Given the description of an element on the screen output the (x, y) to click on. 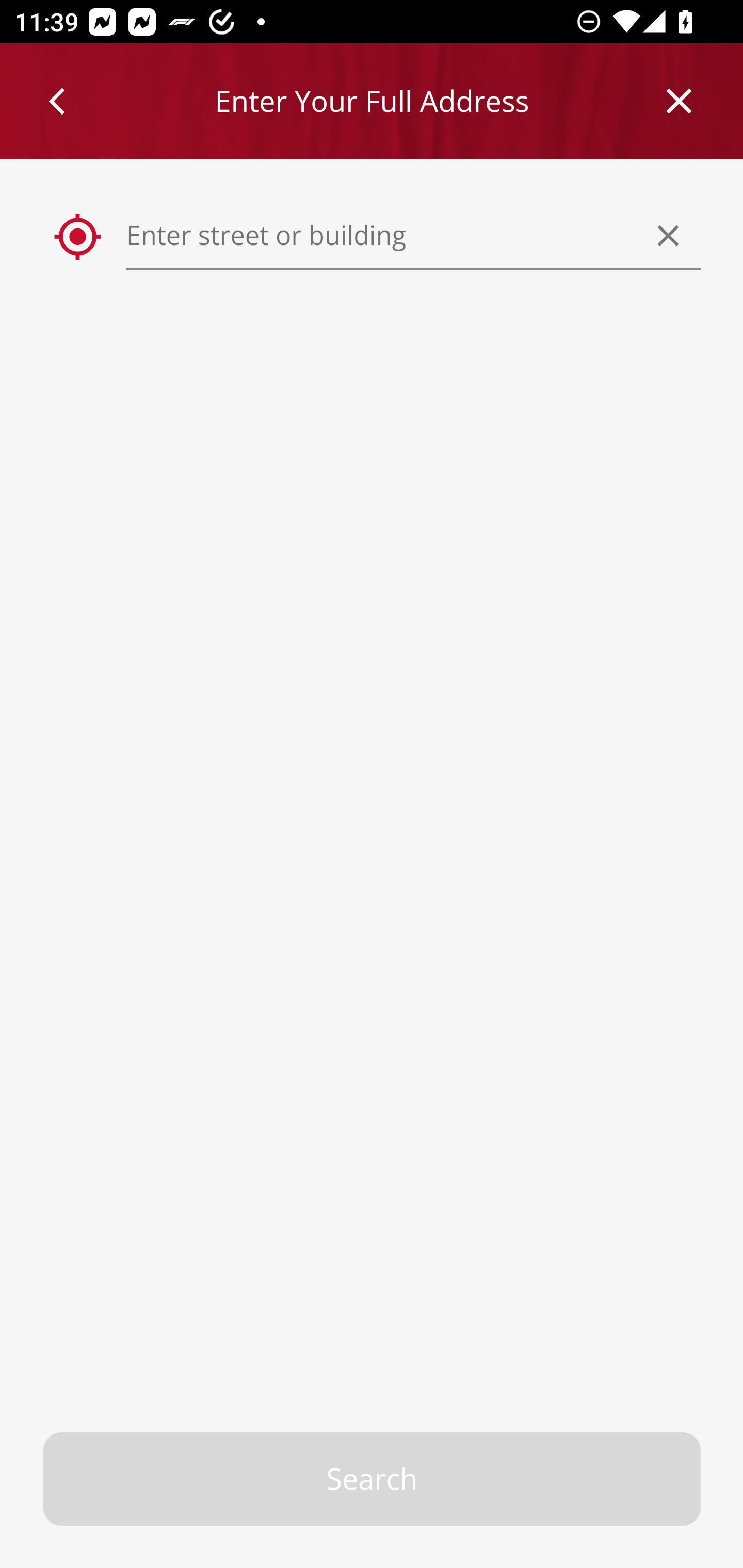
arrow_back_ios (65, 100)
close (679, 100)
gps_fixed (78, 237)
clear (669, 235)
Search (372, 1479)
